Given the description of an element on the screen output the (x, y) to click on. 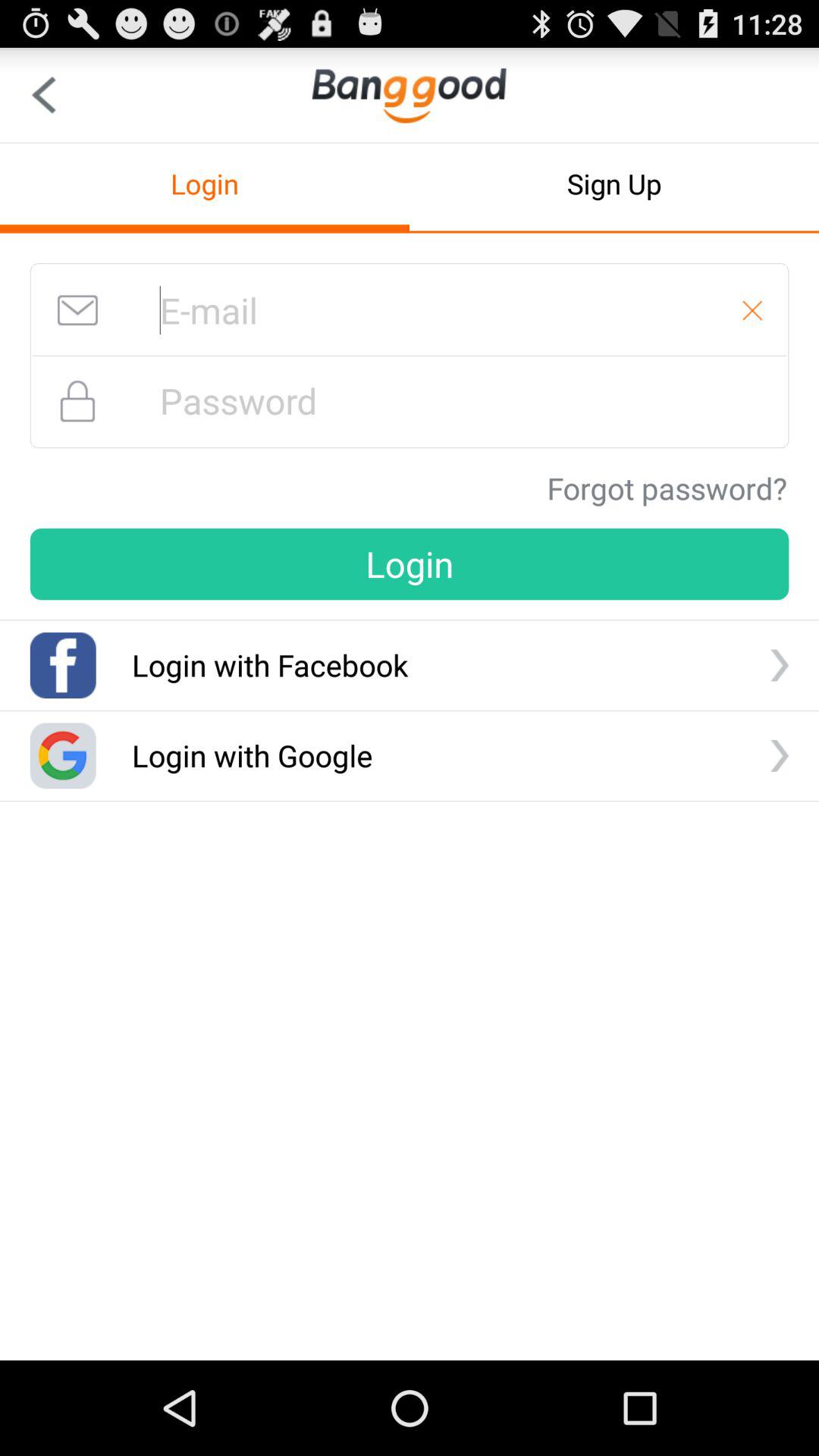
password field (409, 400)
